Given the description of an element on the screen output the (x, y) to click on. 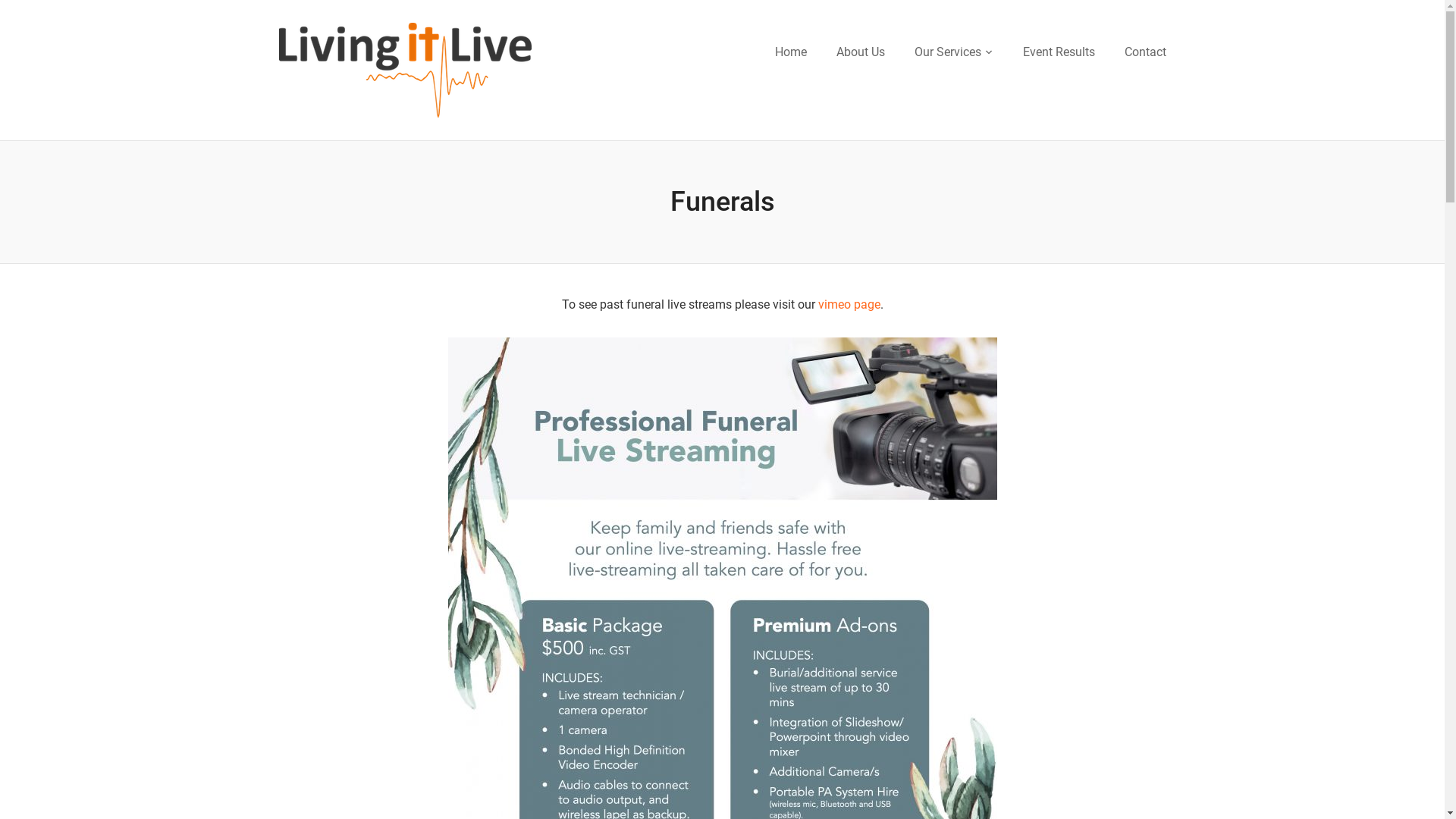
Our Services Element type: text (953, 53)
vimeo page Element type: text (848, 304)
Contact Element type: text (1144, 53)
About Us Element type: text (859, 53)
Event Results Element type: text (1058, 53)
Home Element type: text (790, 53)
